Given the description of an element on the screen output the (x, y) to click on. 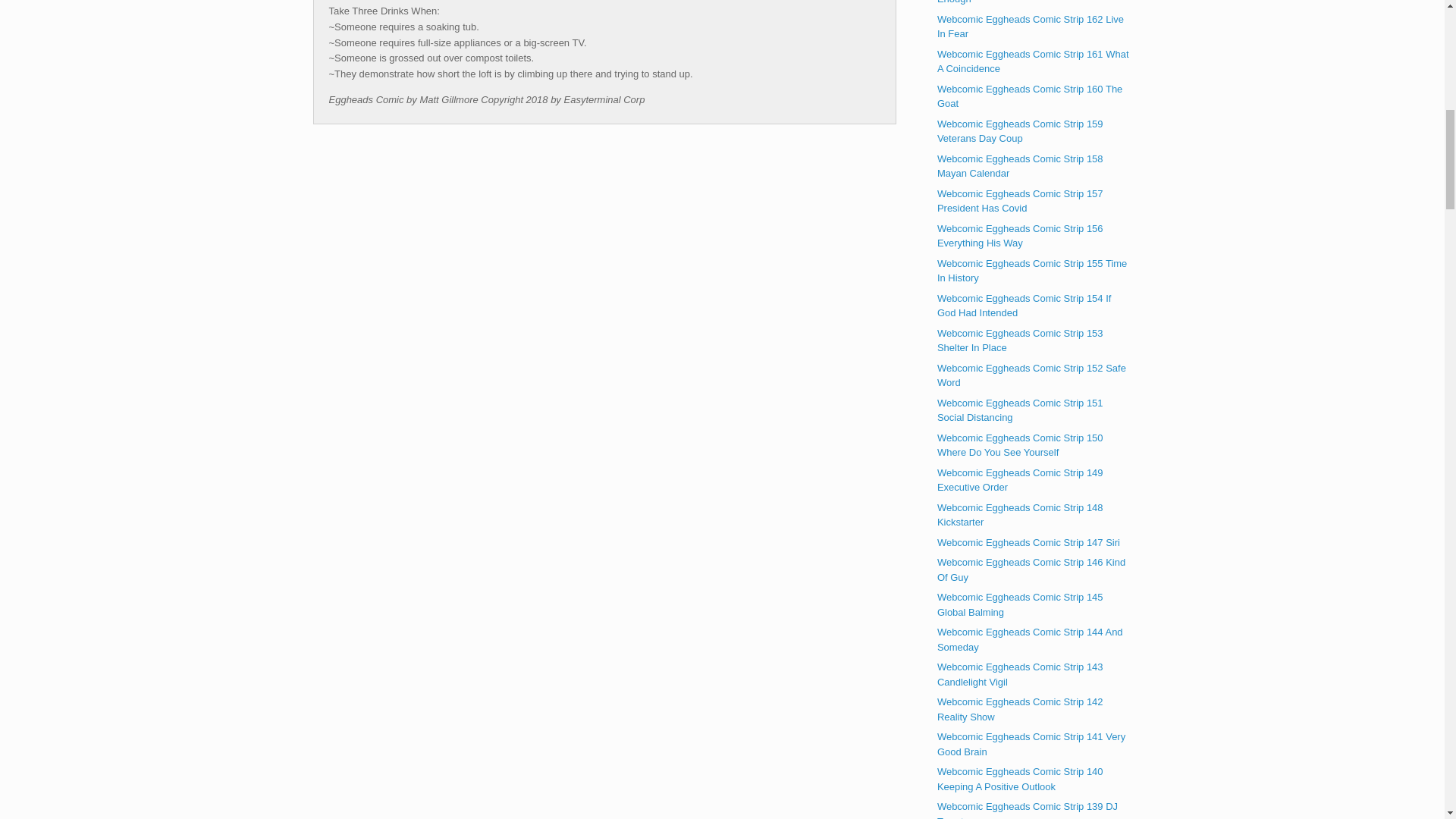
Webcomic Eggheads Comic Strip 160 The Goat (1029, 96)
Webcomic Eggheads Comic Strip 153 Shelter In Place (1020, 340)
Webcomic Eggheads Comic Strip 152 Safe Word (1031, 375)
Webcomic Eggheads Comic Strip 146 Kind Of Guy (1031, 569)
Webcomic Eggheads Comic Strip 158 Mayan Calendar (1020, 166)
Webcomic Eggheads Comic Strip 155 Time In History (1031, 270)
Webcomic Eggheads Comic Strip 154 If God Had Intended (1024, 305)
Webcomic Eggheads Comic Strip 149 Executive Order (1020, 479)
Webcomic Eggheads Comic Strip 151 Social Distancing (1020, 410)
Webcomic Eggheads Comic Strip 163 Long Enough (1031, 2)
Webcomic Eggheads Comic Strip 159 Veterans Day Coup (1020, 130)
Webcomic Eggheads Comic Strip 157 President Has Covid (1020, 201)
Webcomic Eggheads Comic Strip 140 Keeping A Positive Outlook (1020, 778)
Webcomic Eggheads Comic Strip 143 Candlelight Vigil (1020, 673)
Webcomic Eggheads Comic Strip 139 DJ Tweets (1027, 809)
